Given the description of an element on the screen output the (x, y) to click on. 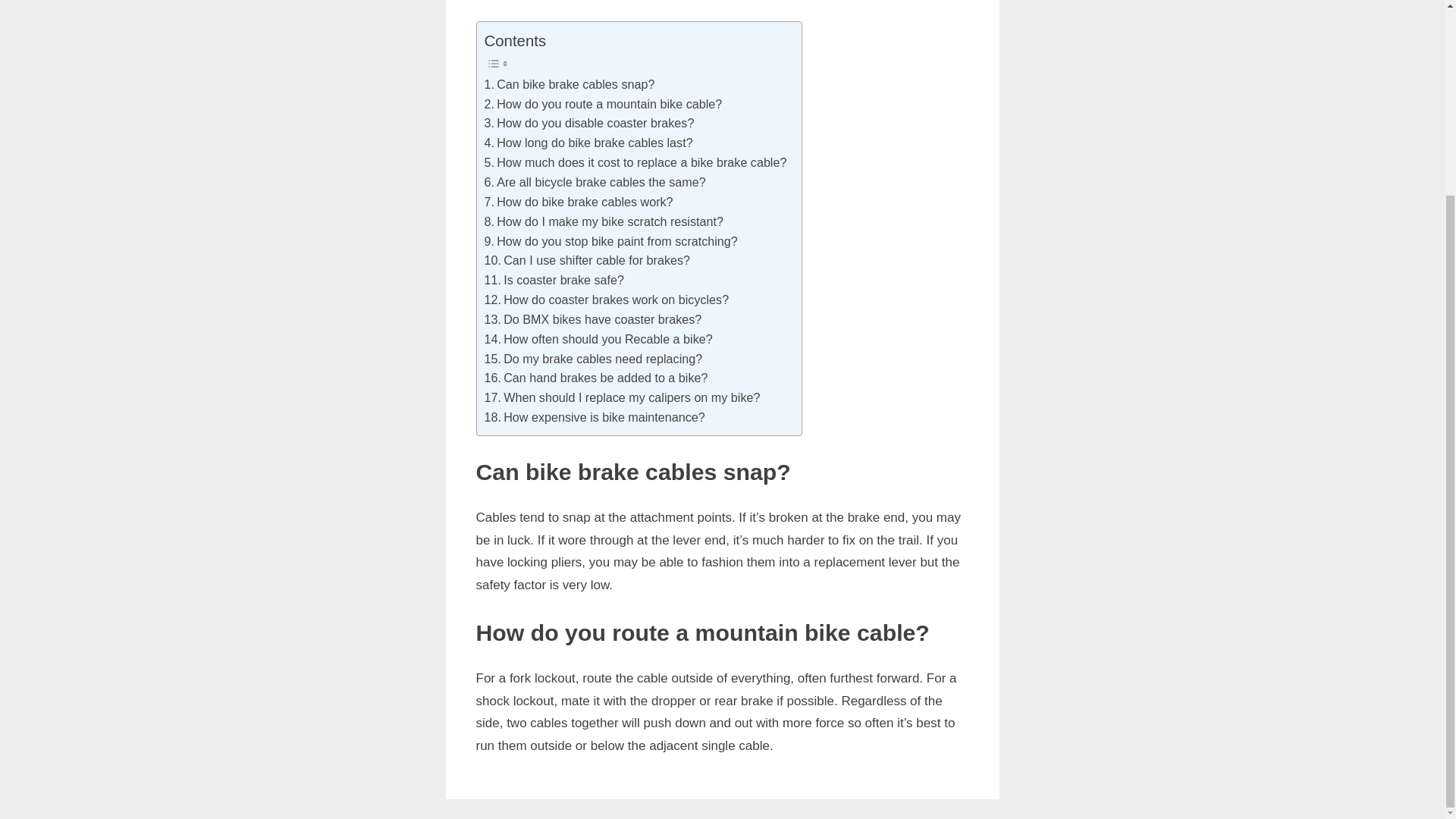
How do you disable coaster brakes? (588, 123)
When should I replace my calipers on my bike? (621, 397)
How much does it cost to replace a bike brake cable? (634, 162)
How do you stop bike paint from scratching? (609, 241)
How often should you Recable a bike? (597, 339)
Do my brake cables need replacing? (592, 359)
How do I make my bike scratch resistant? (602, 221)
Do BMX bikes have coaster brakes? (509, 22)
How long do bike brake cables last? (592, 320)
How often should you Recable a bike? (537, 22)
How do coaster brakes work on bicycles? (588, 143)
Can I use shifter cable for brakes? (597, 339)
Are all bicycle brake cables the same? (606, 300)
